Given the description of an element on the screen output the (x, y) to click on. 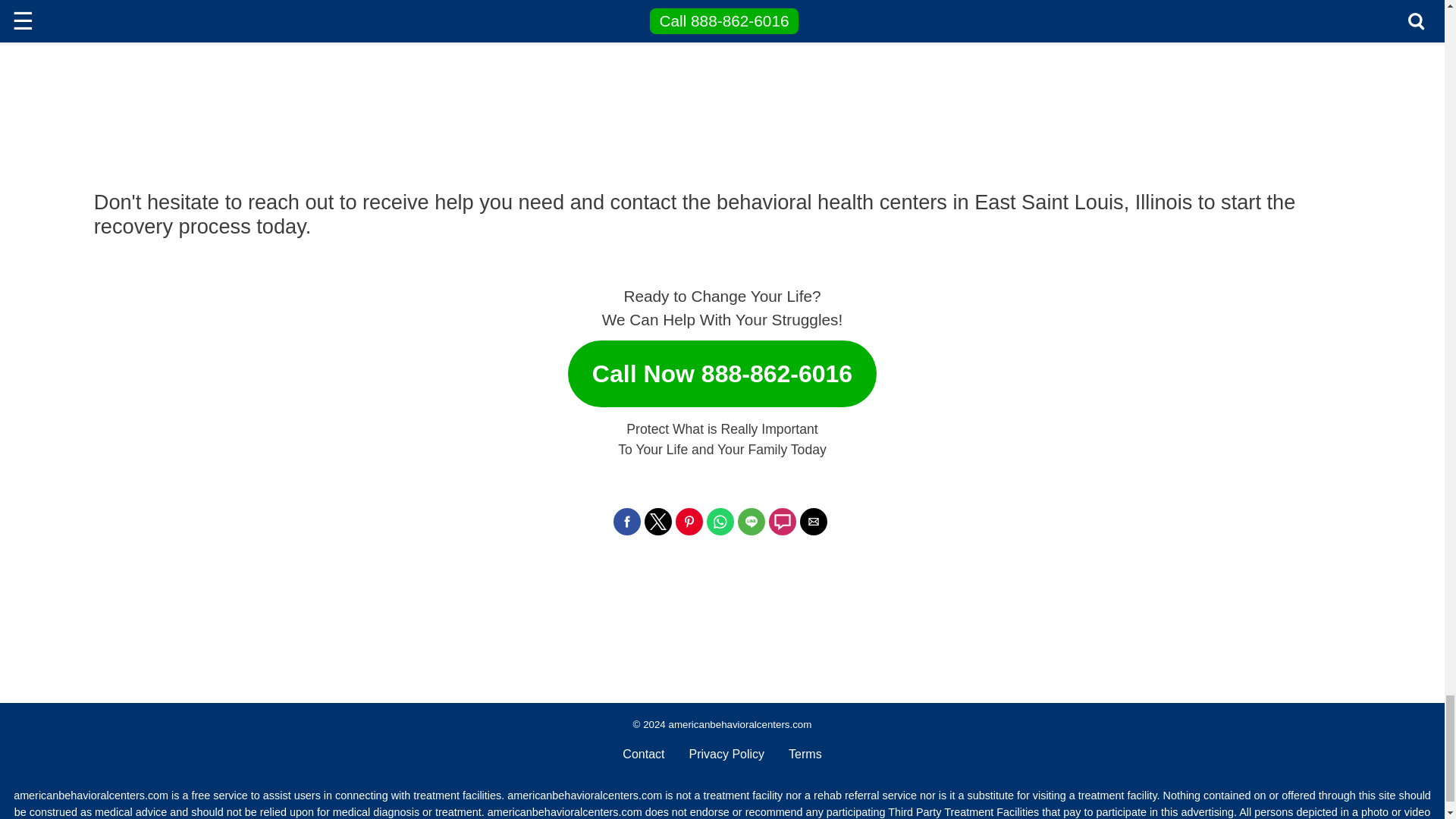
Privacy Policy (726, 753)
Call Now 888-862-6016 (722, 367)
Contact (643, 753)
Terms (805, 753)
